Given the description of an element on the screen output the (x, y) to click on. 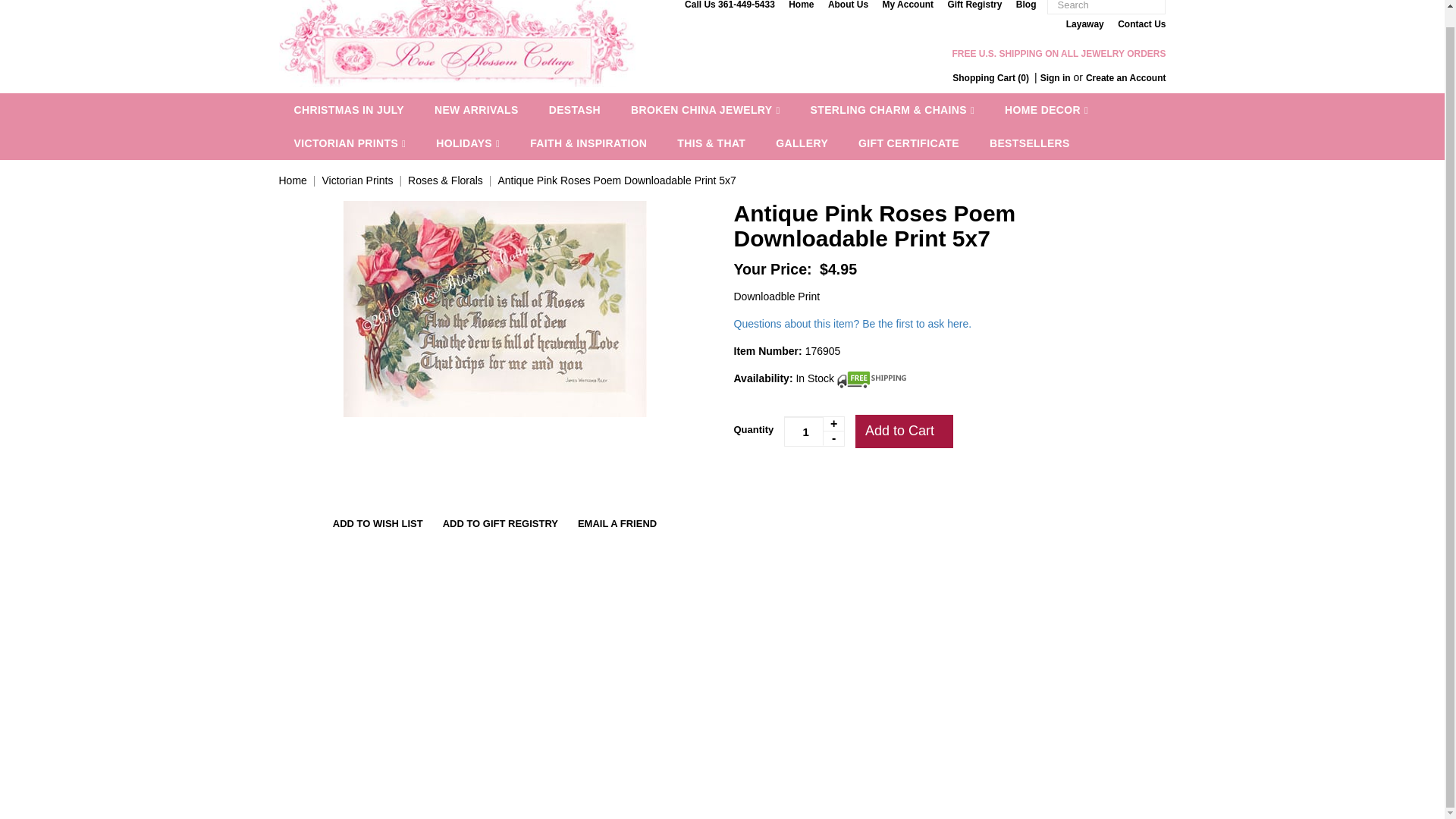
BROKEN CHINA JEWELRY (704, 109)
VICTORIAN PRINTS (350, 142)
Layaway (1084, 23)
Blog (1026, 4)
CHRISTMAS IN JULY (349, 109)
Gift Registry (974, 4)
DESTASH (574, 109)
NEW ARRIVALS (476, 109)
HOME DECOR (1046, 109)
Sign in (1055, 77)
My Account (908, 4)
Contact Us (1142, 23)
About Us (847, 4)
Create an Account (1126, 77)
361-449-5433 (745, 4)
